Given the description of an element on the screen output the (x, y) to click on. 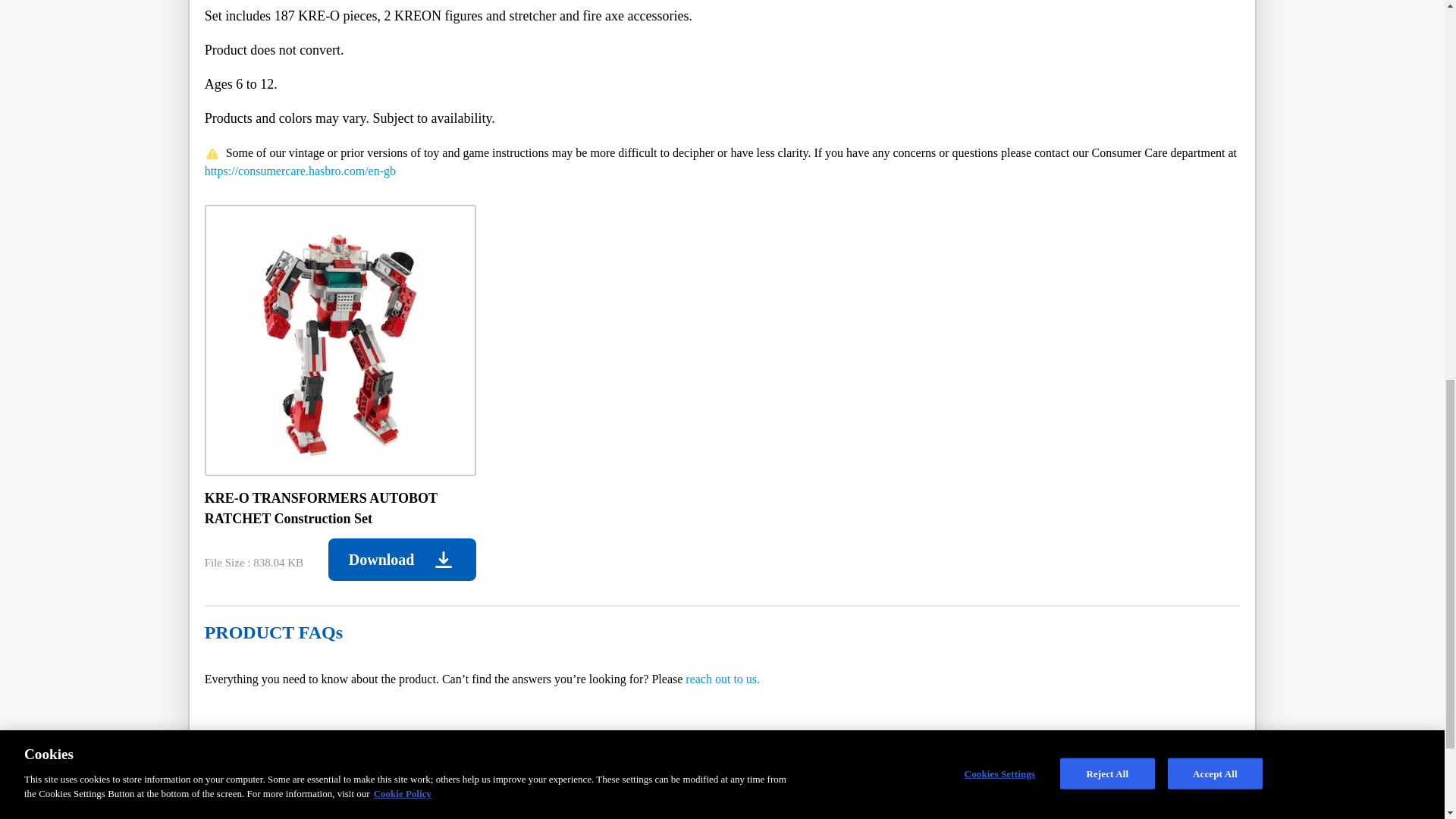
Download (402, 559)
reach out to us. (722, 678)
